Given the description of an element on the screen output the (x, y) to click on. 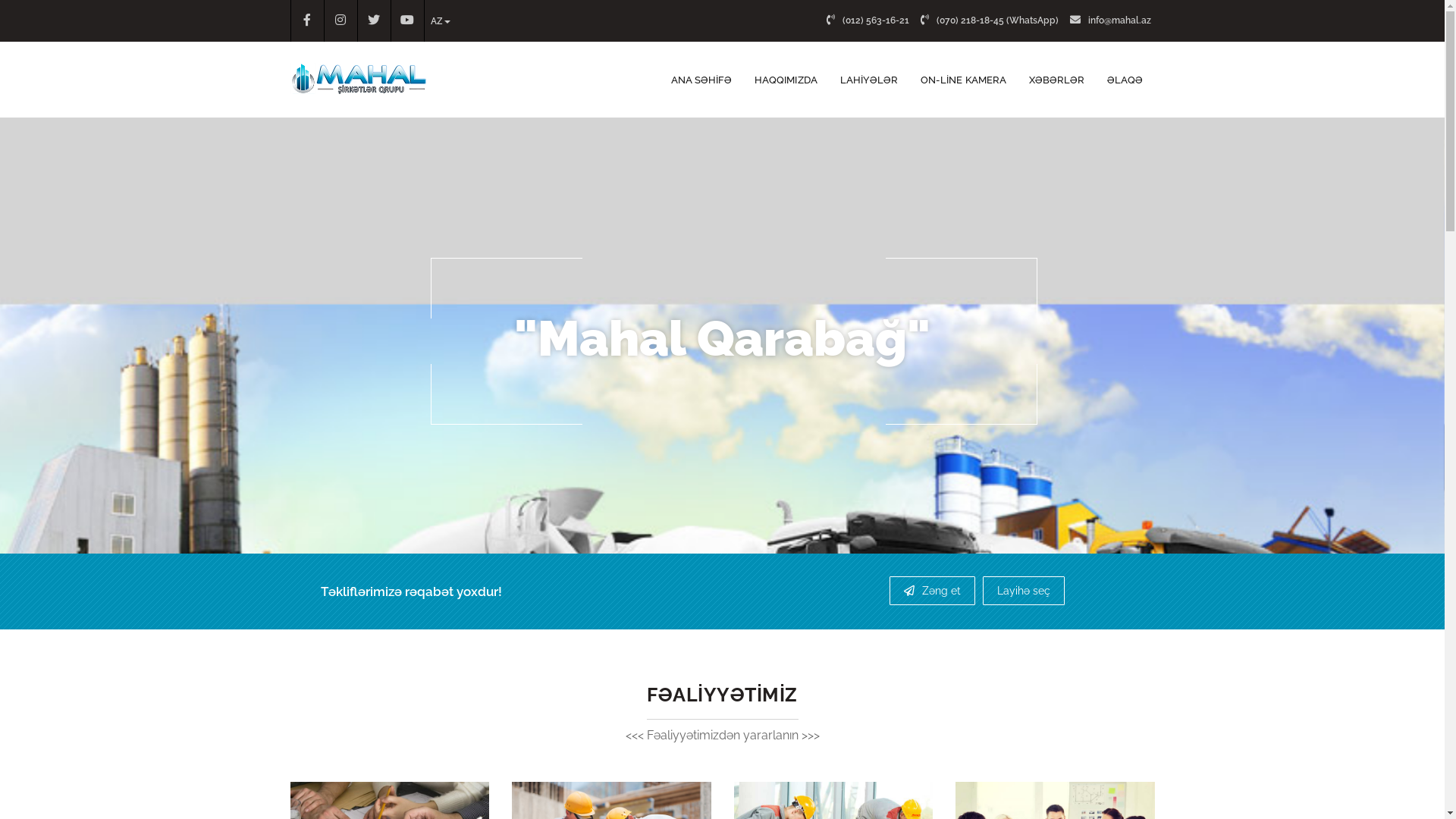
AZ Element type: text (440, 20)
(012) 563-16-21 Element type: text (869, 20)
info@mahal.az Element type: text (1111, 20)
(070) 218-18-45 (WhatsApp) Element type: text (991, 20)
HAQQIMIZDA Element type: text (785, 79)
